Given the description of an element on the screen output the (x, y) to click on. 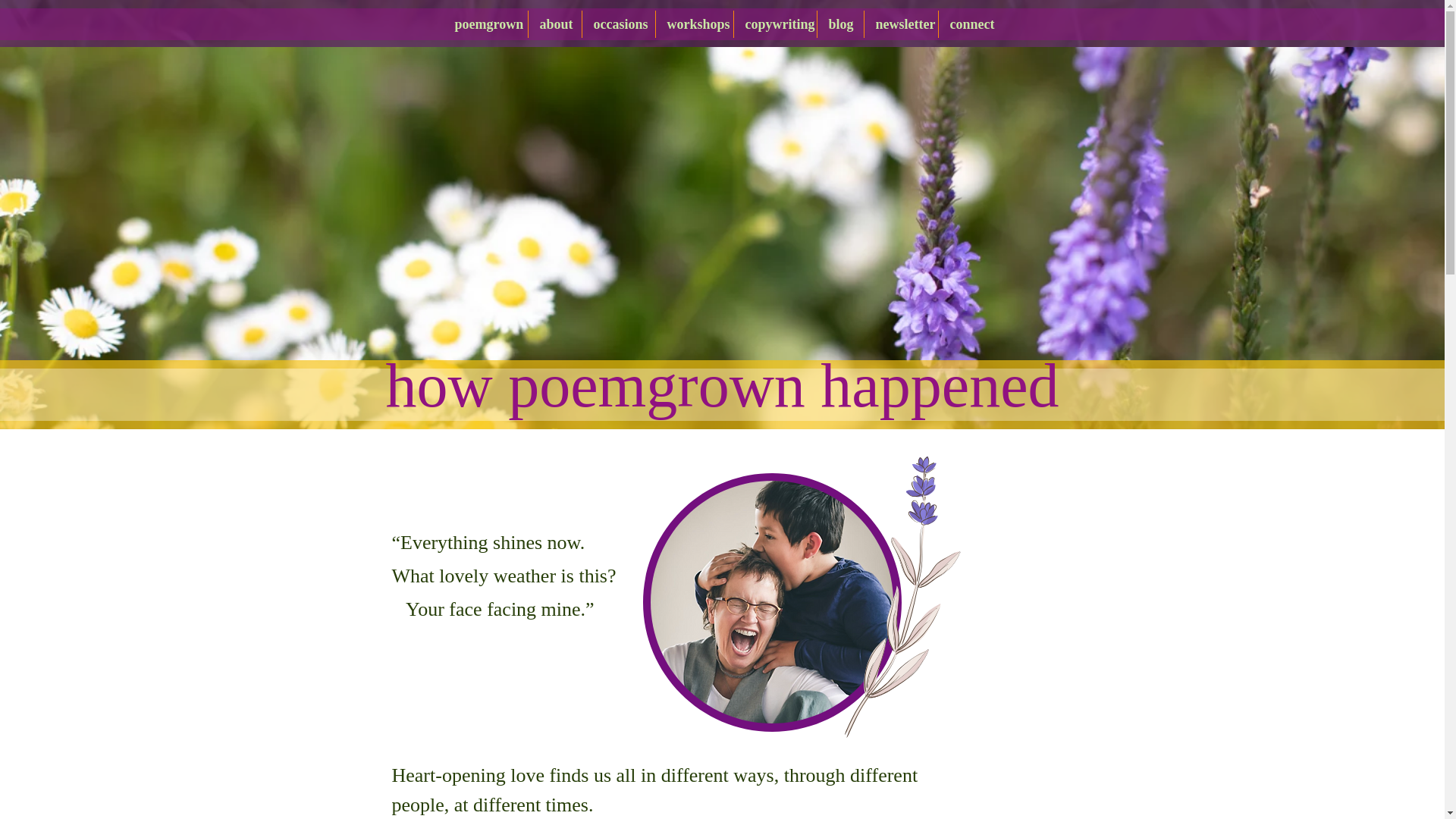
copywriting (774, 23)
connect (970, 23)
workshops (693, 23)
newsletter (900, 23)
poemgrown (484, 23)
cin and leo (771, 601)
blog (839, 23)
